Given the description of an element on the screen output the (x, y) to click on. 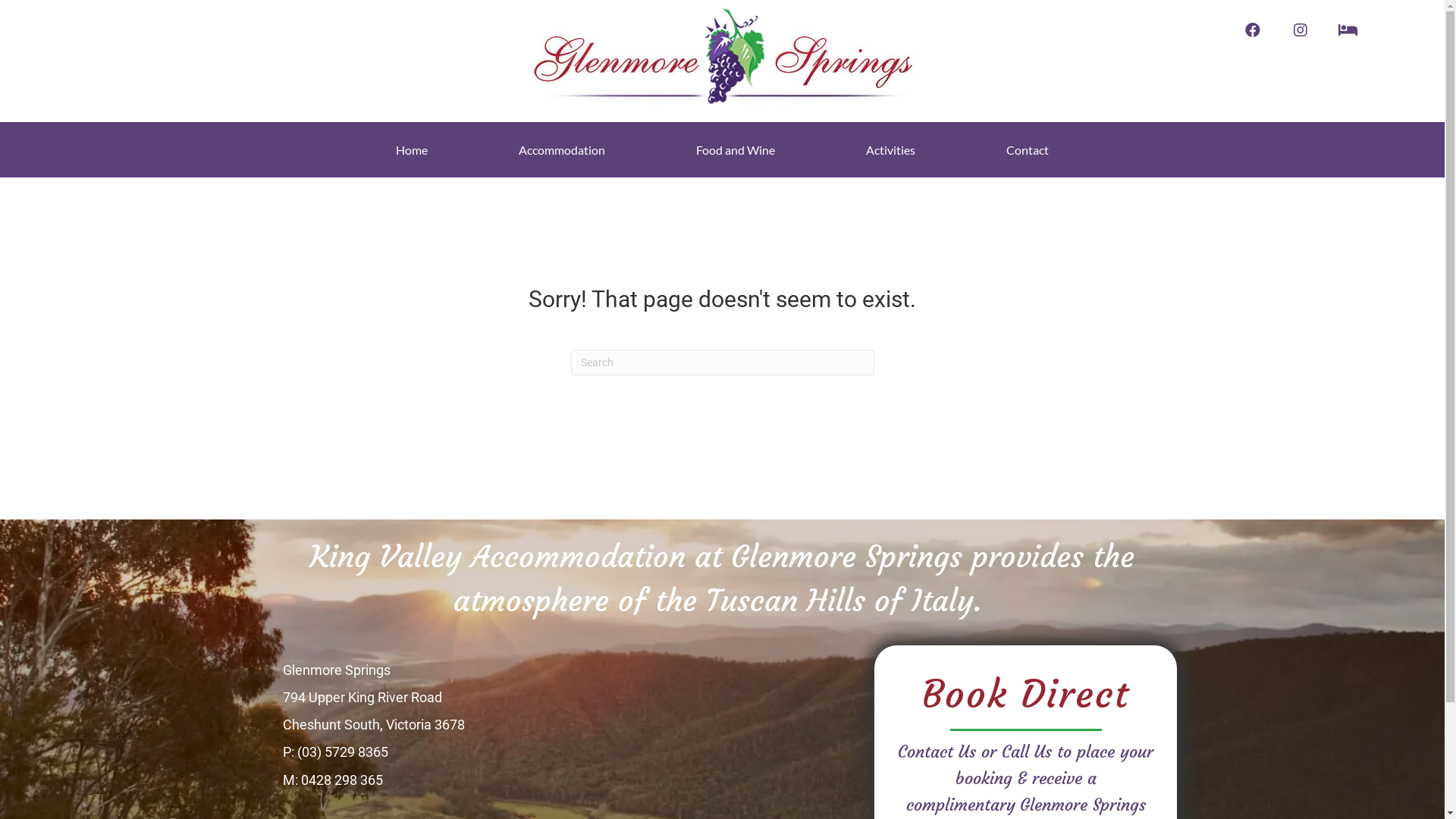
Contact Element type: text (1027, 149)
Activities Element type: text (890, 149)
Accommodation Element type: text (561, 149)
Type and press Enter to search. Element type: hover (721, 362)
Glenmore LOGO Element type: hover (721, 53)
Instagram Element type: hover (1299, 30)
Home Element type: text (411, 149)
Facebook Element type: hover (1252, 30)
Food and Wine Element type: text (735, 149)
Book Direct Element type: text (1025, 694)
Book Now Element type: hover (1348, 30)
